Given the description of an element on the screen output the (x, y) to click on. 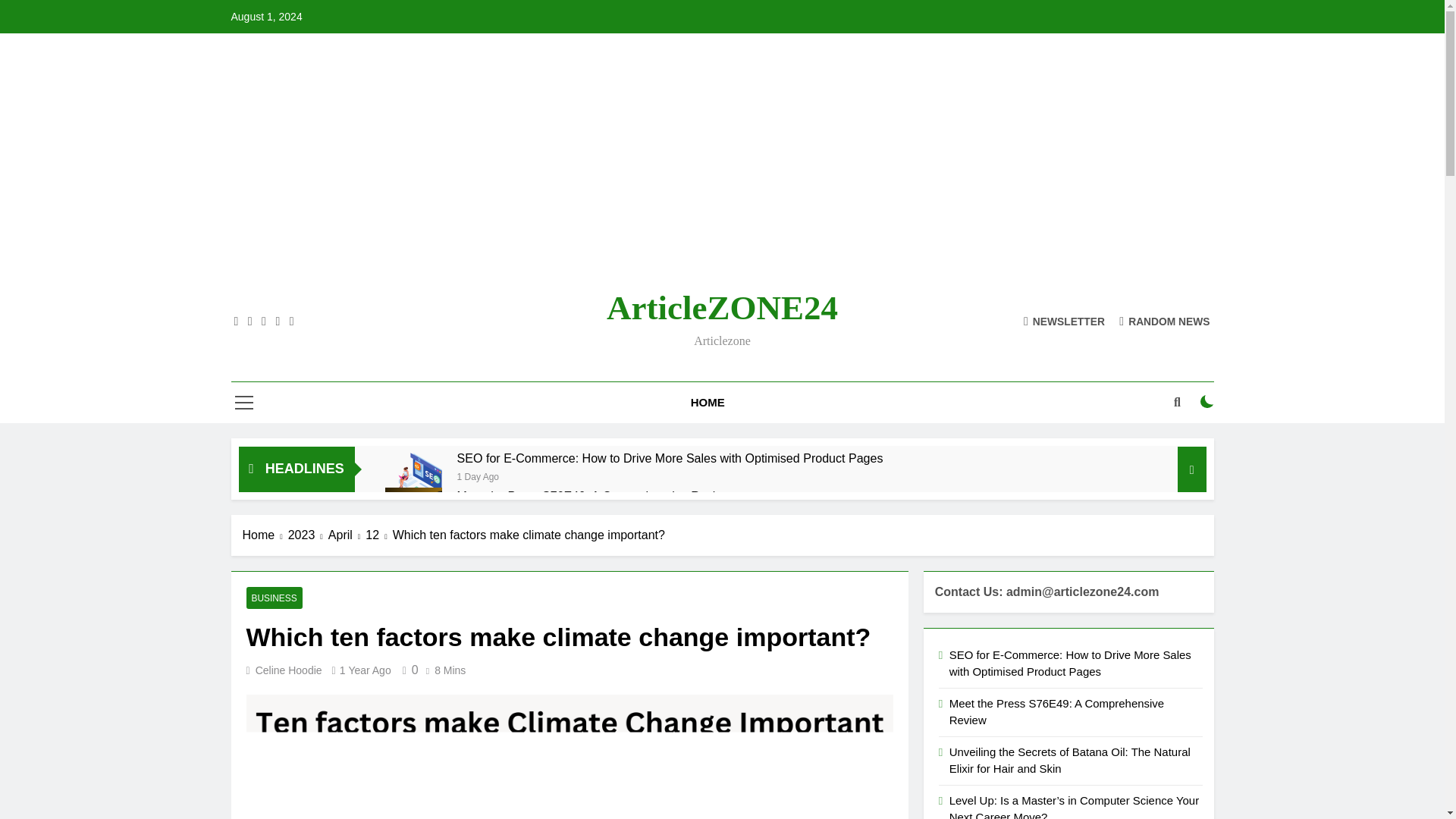
NEWSLETTER (1064, 92)
2023 (308, 307)
RANDOM NEWS (1164, 92)
on (1206, 173)
2 Days Ago (480, 247)
Meet the Press S76E49: A Comprehensive Review (413, 288)
Meet the Press S76E49: A Comprehensive Review (593, 268)
Meet the Press S76E49: A Comprehensive Review (593, 268)
